Given the description of an element on the screen output the (x, y) to click on. 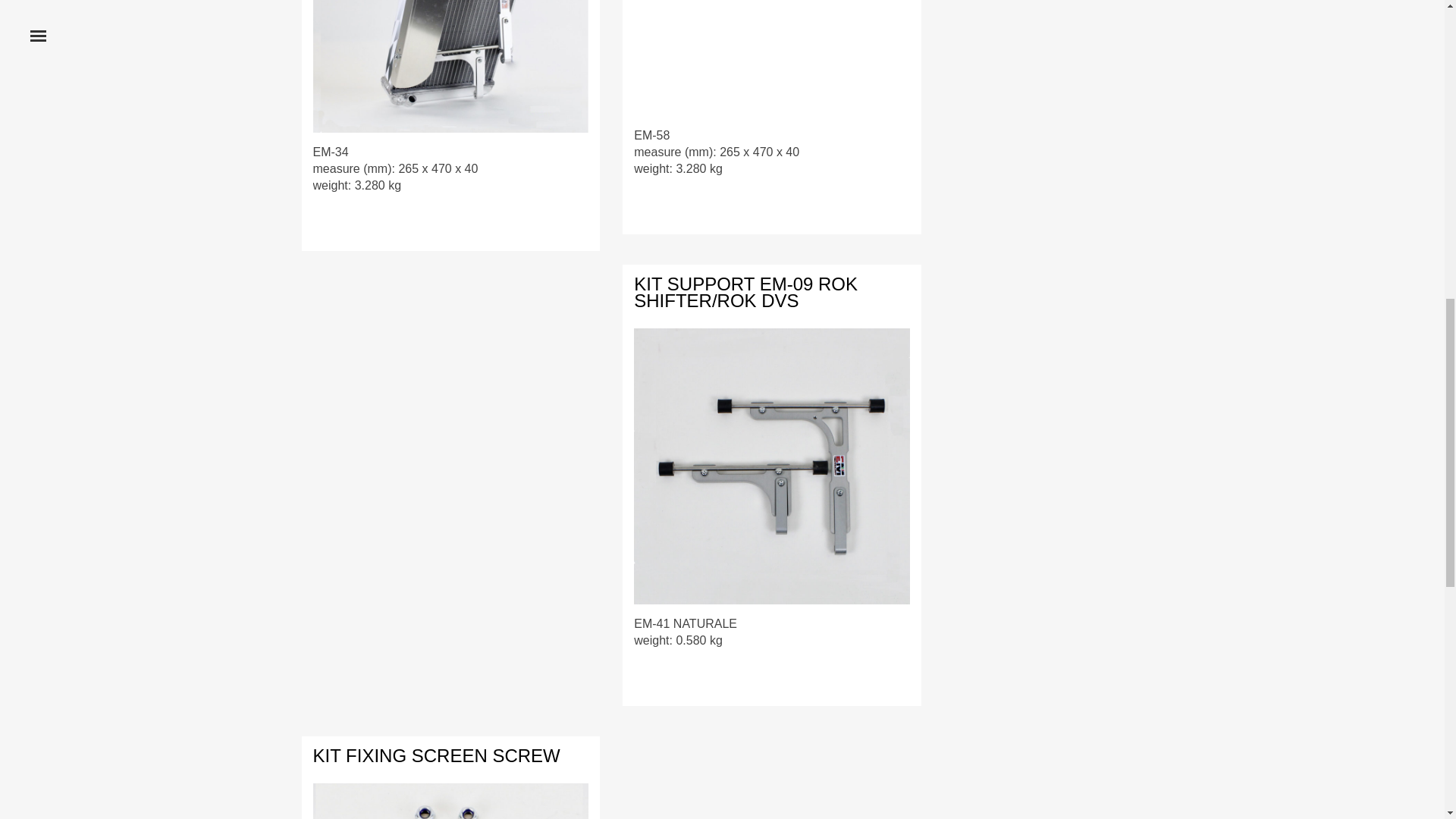
KIT FIXING SCREEN SCREW (436, 754)
